Given the description of an element on the screen output the (x, y) to click on. 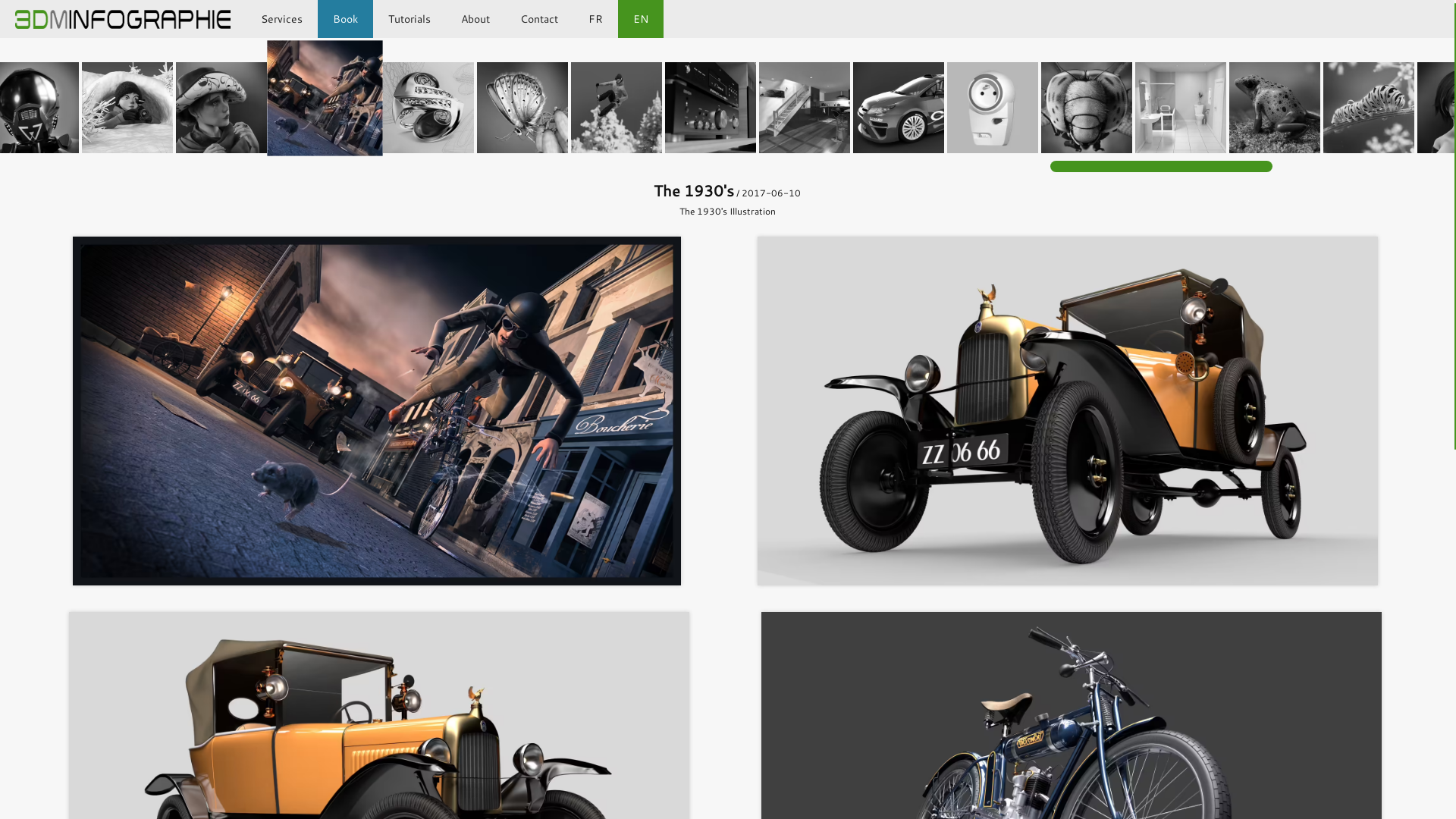
Eye of Heart Element type: hover (427, 107)
Butterfly Element type: hover (521, 107)
3D Dragonfly Element type: hover (1086, 107)
EN Element type: text (640, 18)
Tutorials Element type: text (409, 18)
Modular, Adaptater, Receiver, Probes Element type: hover (992, 107)
Contact Element type: text (539, 18)
Happy new year 2018 Element type: hover (126, 107)
FR Element type: text (595, 18)
2017 Wishes Element type: hover (616, 107)
Suzy Element type: hover (220, 107)
Interior for Stairs Element type: hover (804, 107)
About Element type: text (475, 18)
Book Element type: text (345, 18)
3D Home cinema Element type: hover (710, 107)
Machaon caterpillar Element type: hover (1368, 107)
Blue frog Element type: hover (1274, 107)
The 1930's Element type: hover (321, 95)
Handicapped Bathroom Element type: hover (1180, 107)
Services Element type: text (281, 18)
